Given the description of an element on the screen output the (x, y) to click on. 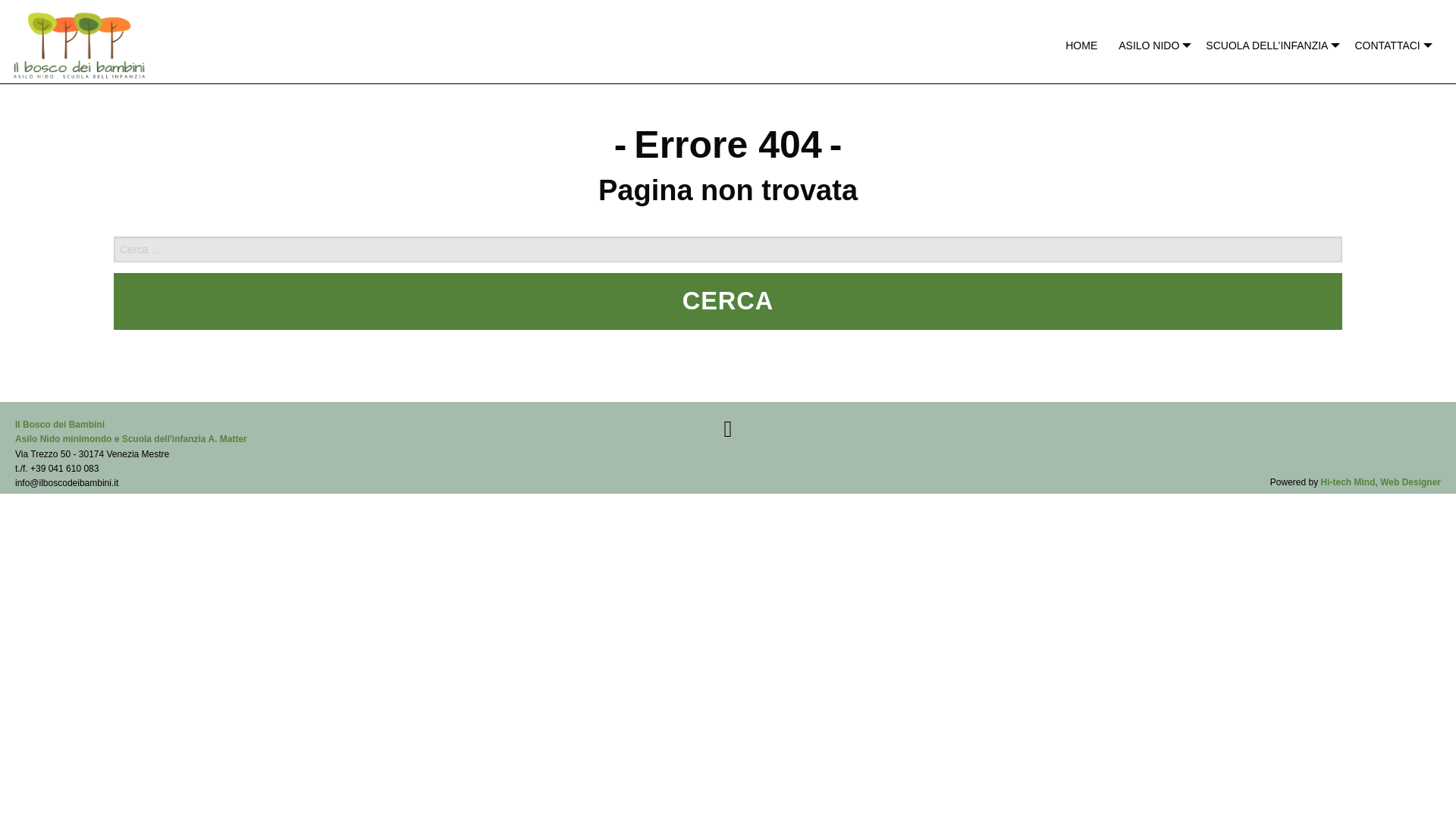
CONTATTACI (1389, 45)
Cerca (727, 301)
HOME (1081, 45)
Il Bosco Dei Bmbini (130, 431)
Il Bosco Dei bambini (79, 40)
Hi-tech Mind, Web Designer (1380, 481)
Cerca (727, 301)
ASILO NIDO (1151, 45)
Cerca (727, 301)
Hi-tech Mind, Web Designer (1380, 481)
